Given the description of an element on the screen output the (x, y) to click on. 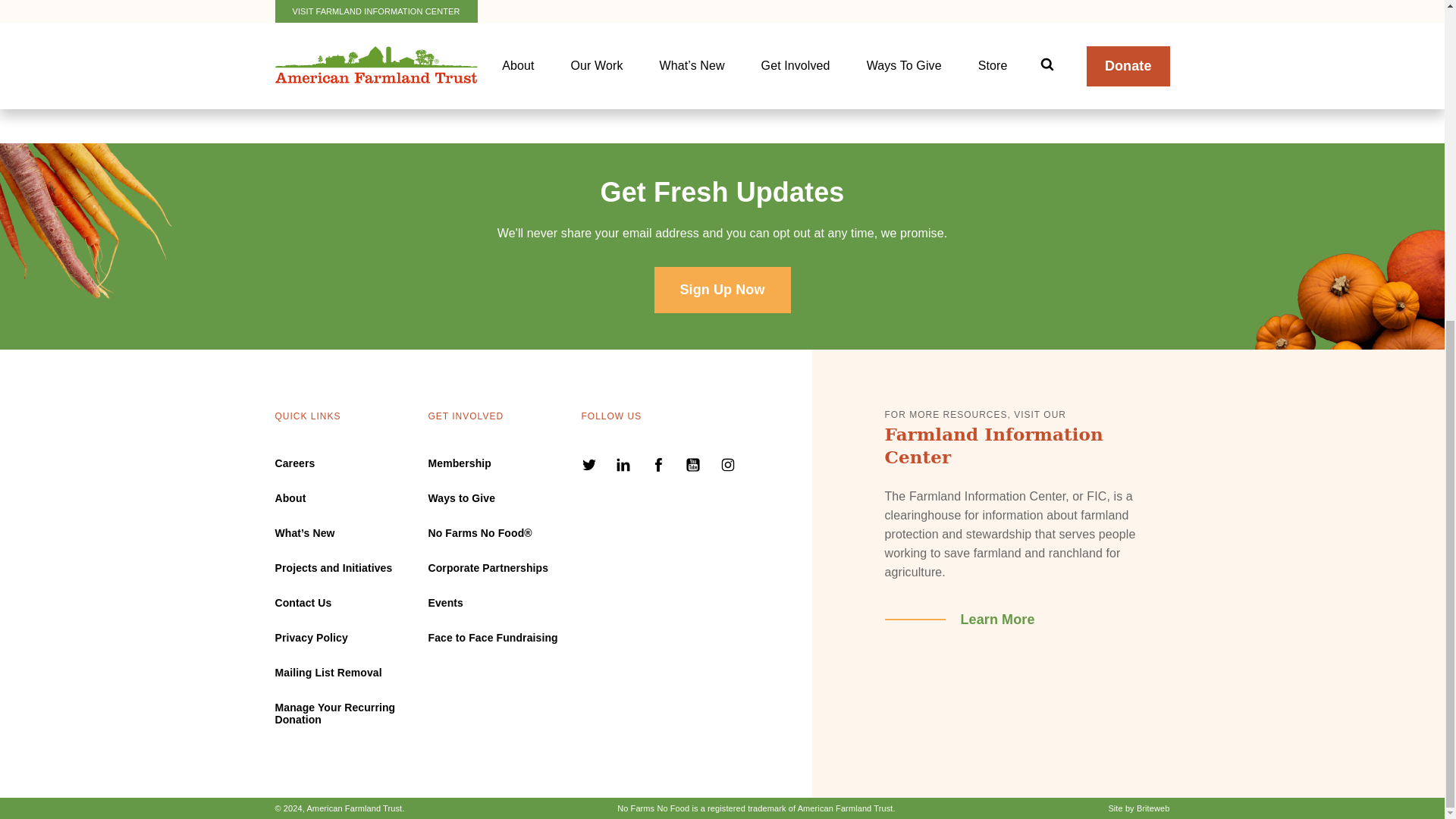
facebook (659, 466)
youtube (694, 466)
instagram (727, 466)
twitter (589, 466)
linkedin (624, 466)
